Given the description of an element on the screen output the (x, y) to click on. 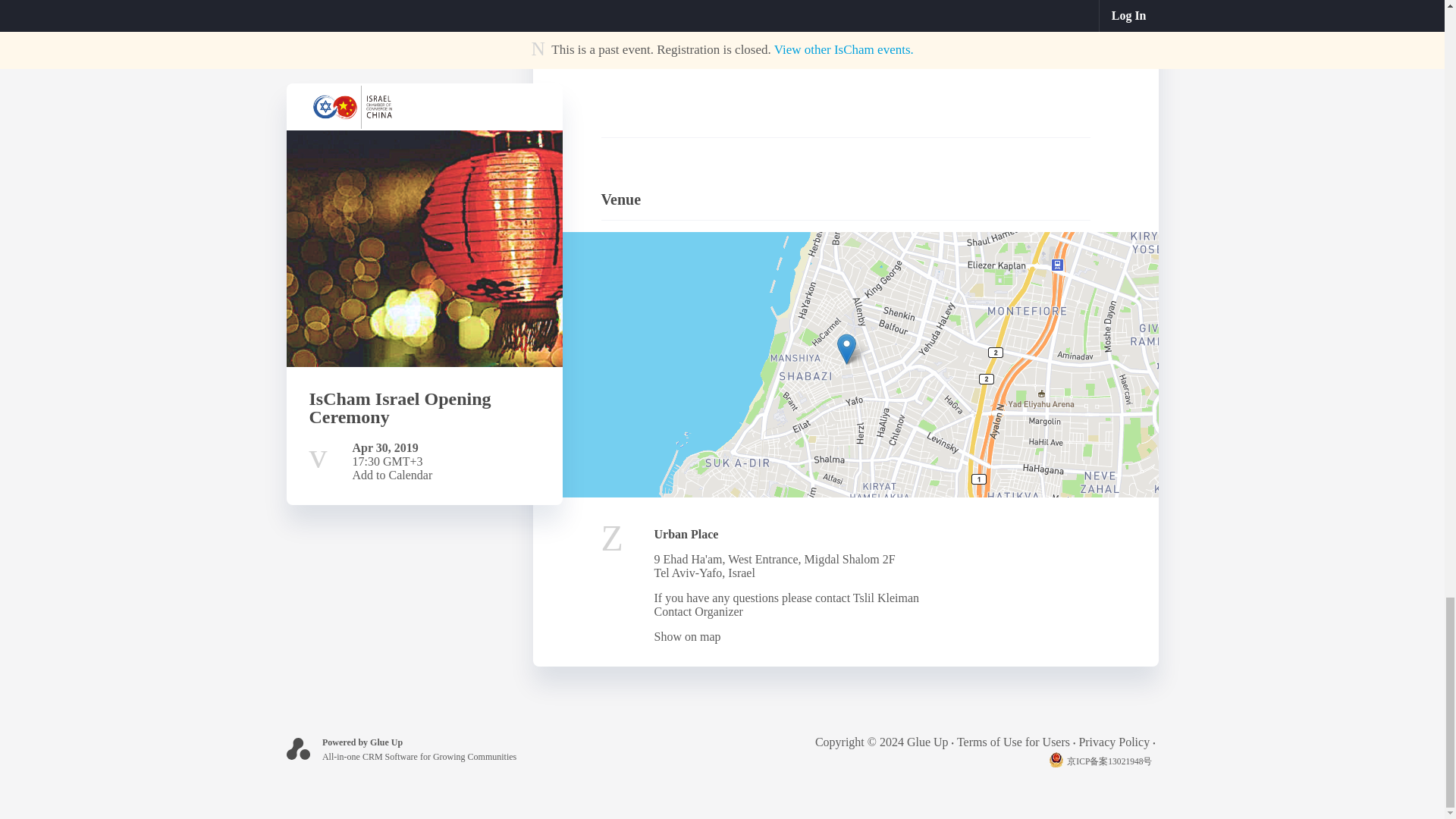
Contact Organizer (697, 611)
Show on map (686, 635)
